Given the description of an element on the screen output the (x, y) to click on. 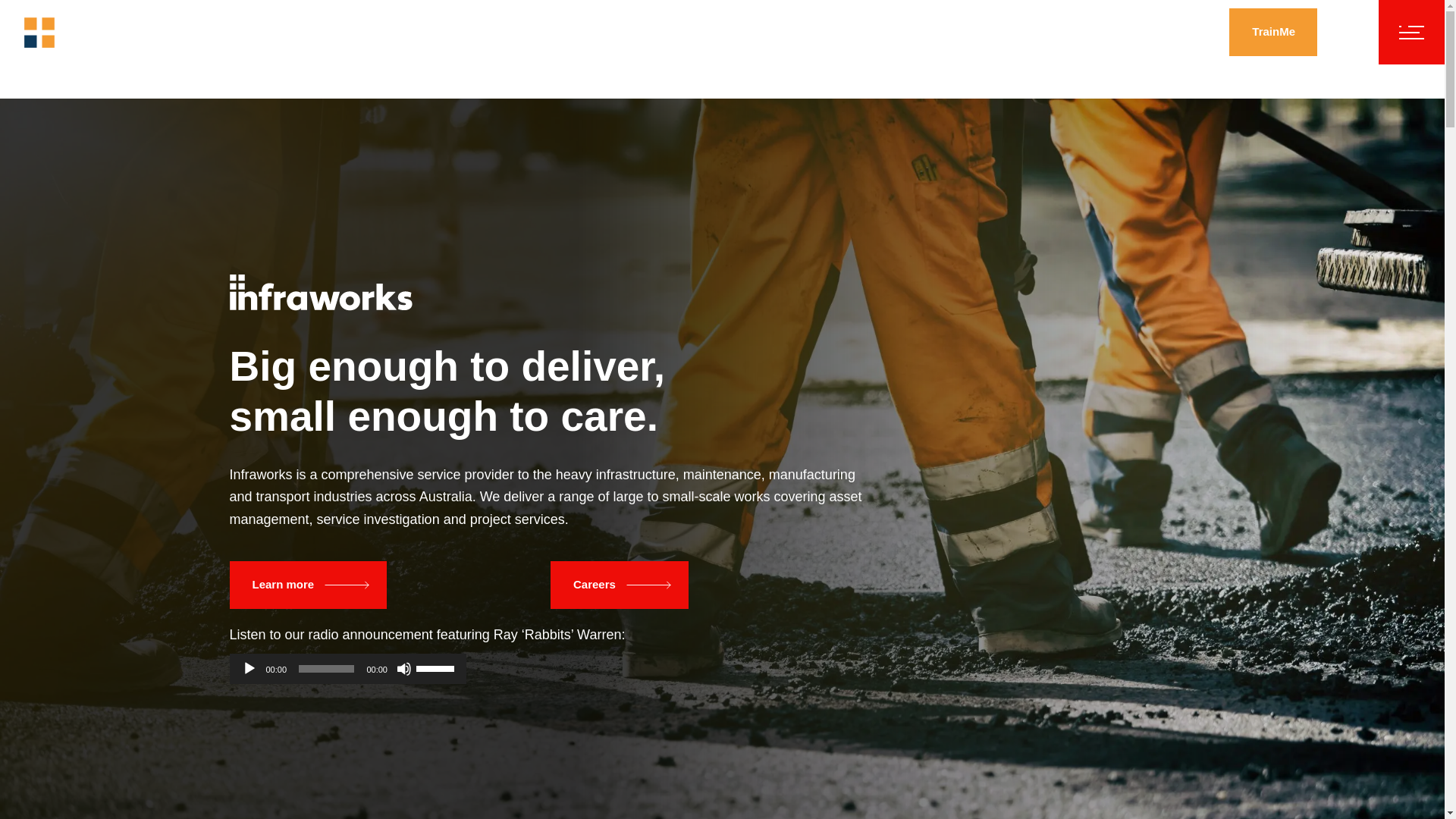
Past projects (495, 32)
Mute (404, 668)
Why Infraworks (378, 32)
Play (248, 668)
